Given the description of an element on the screen output the (x, y) to click on. 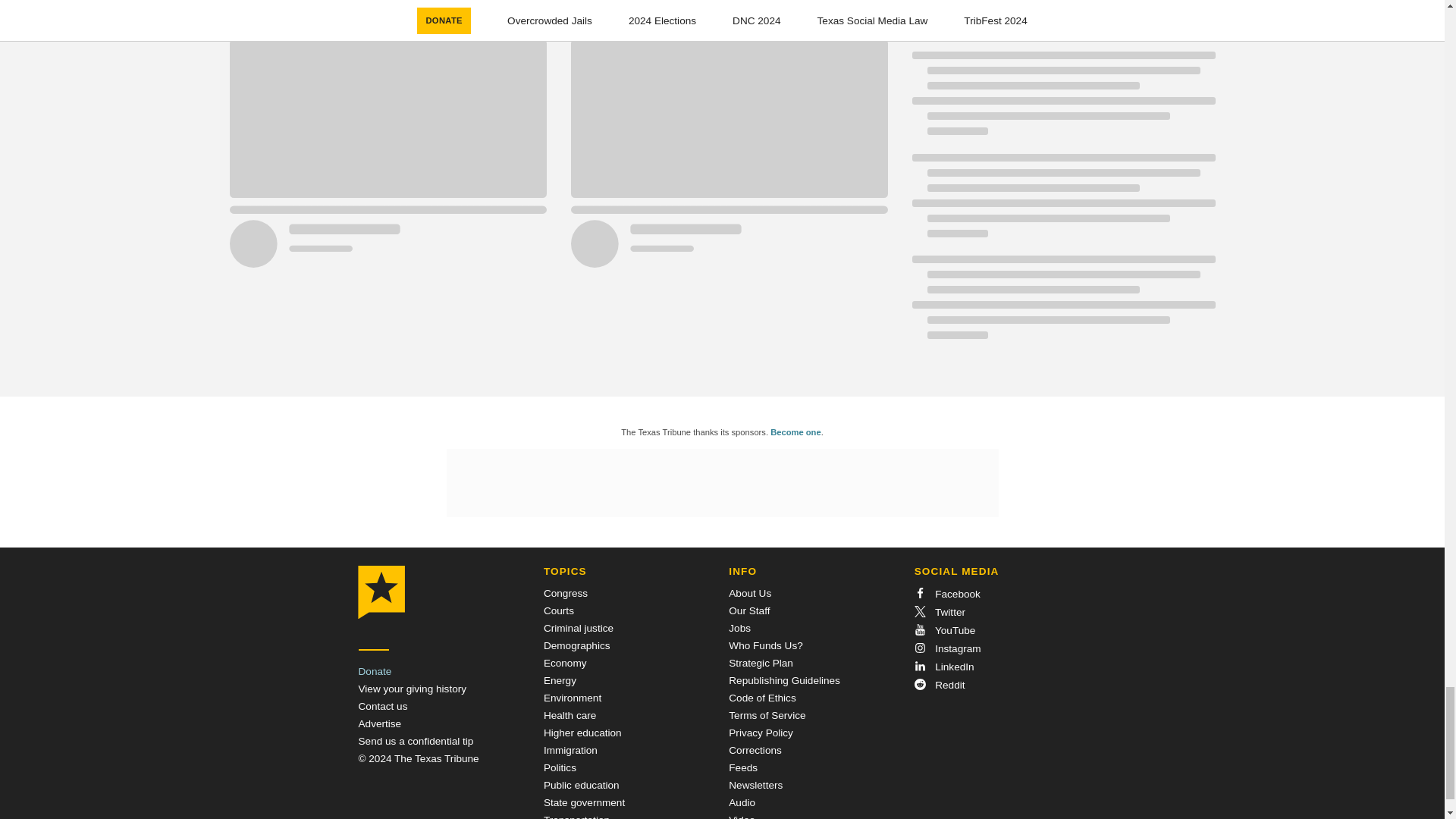
Audio (742, 802)
Corrections (755, 749)
Who Funds Us? (765, 645)
Code of Ethics (761, 697)
Donate (374, 671)
Contact us (382, 706)
Privacy Policy (761, 732)
Newsletters (756, 785)
Loading indicator (557, 18)
Feeds (743, 767)
